Given the description of an element on the screen output the (x, y) to click on. 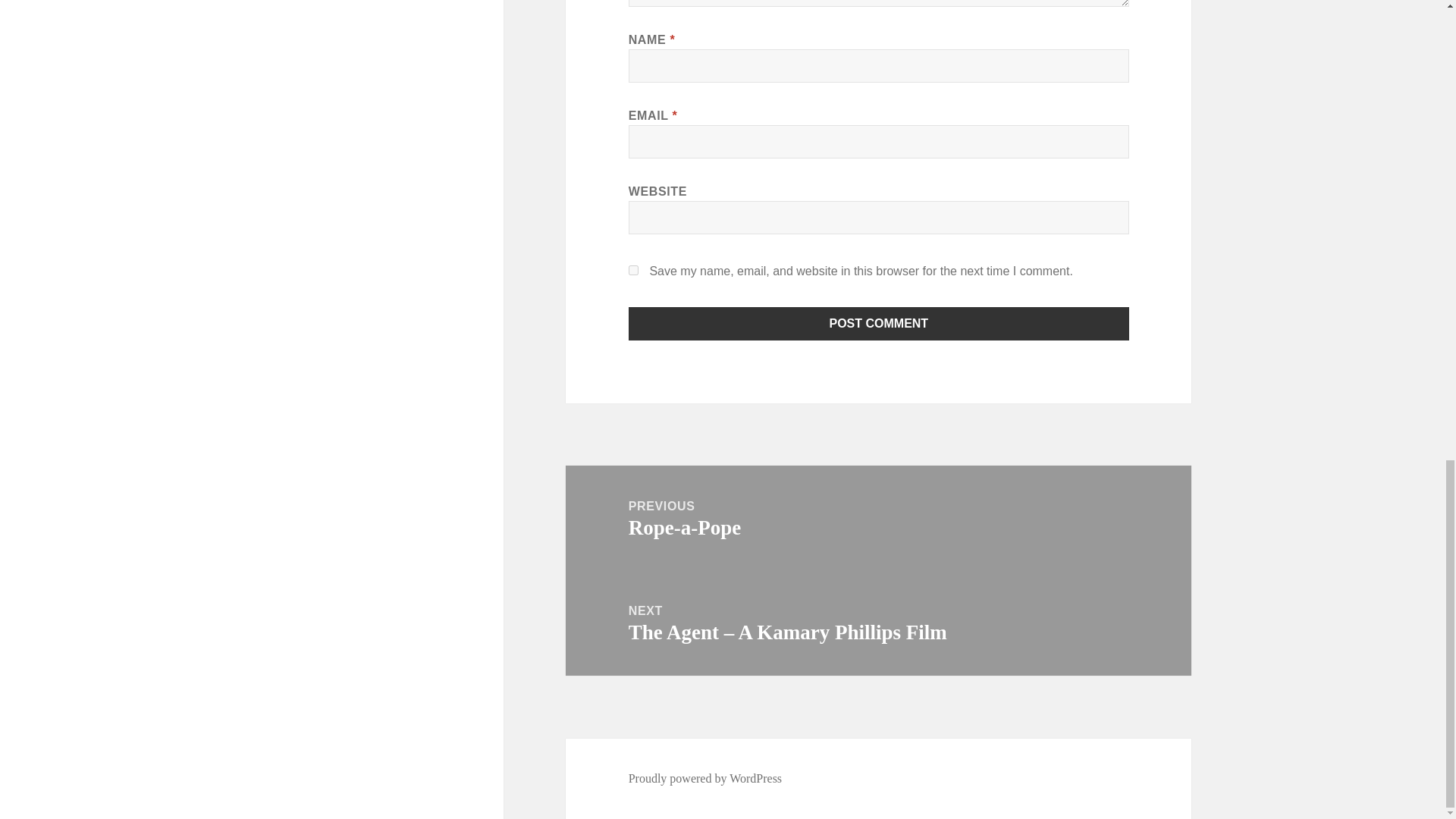
Post Comment (878, 323)
yes (633, 270)
Proudly powered by WordPress (704, 778)
Post Comment (878, 518)
